Given the description of an element on the screen output the (x, y) to click on. 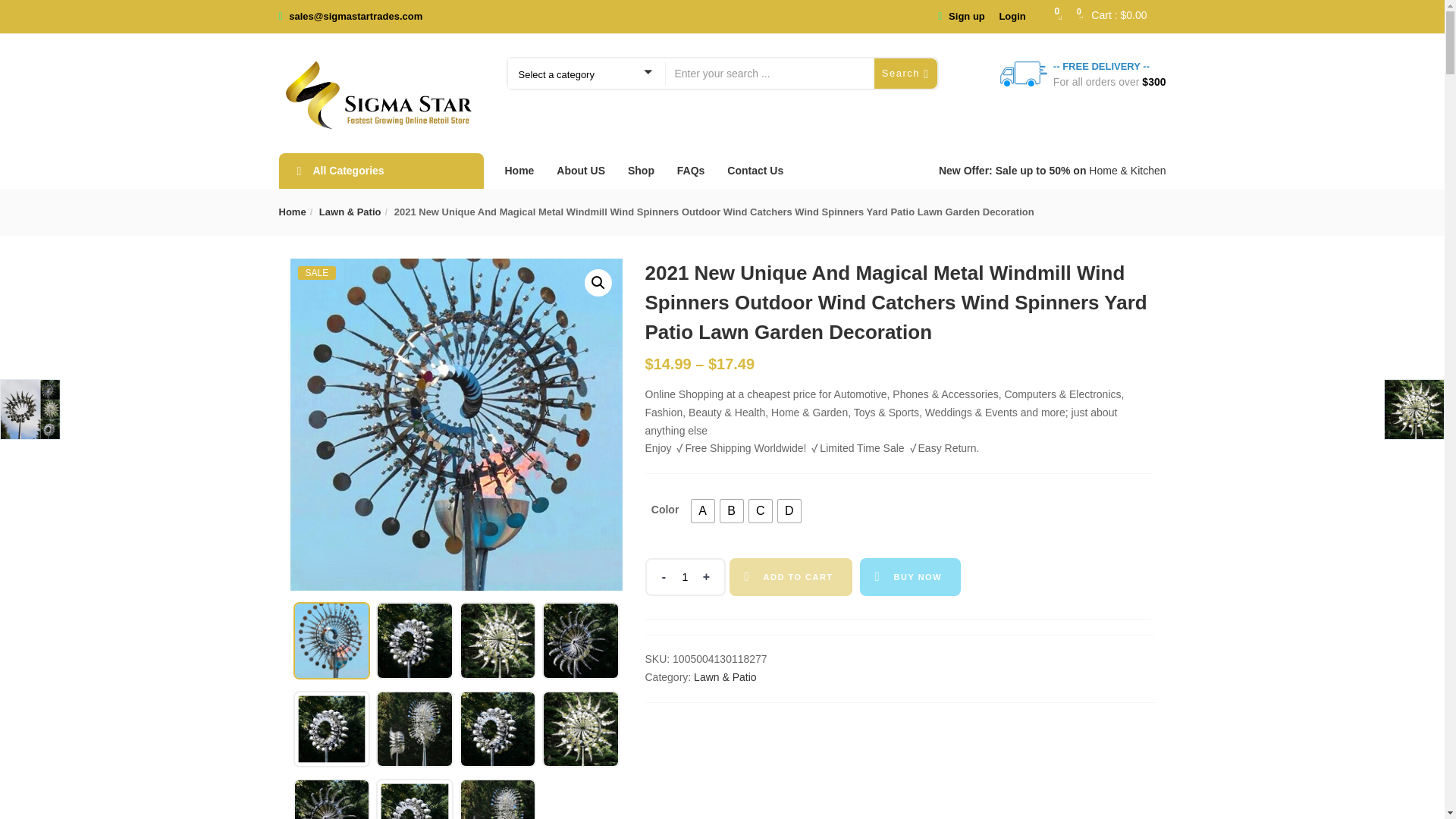
View your shopping cart (1118, 15)
 Select a category (583, 73)
Sign up (967, 16)
Login (1011, 16)
